Given the description of an element on the screen output the (x, y) to click on. 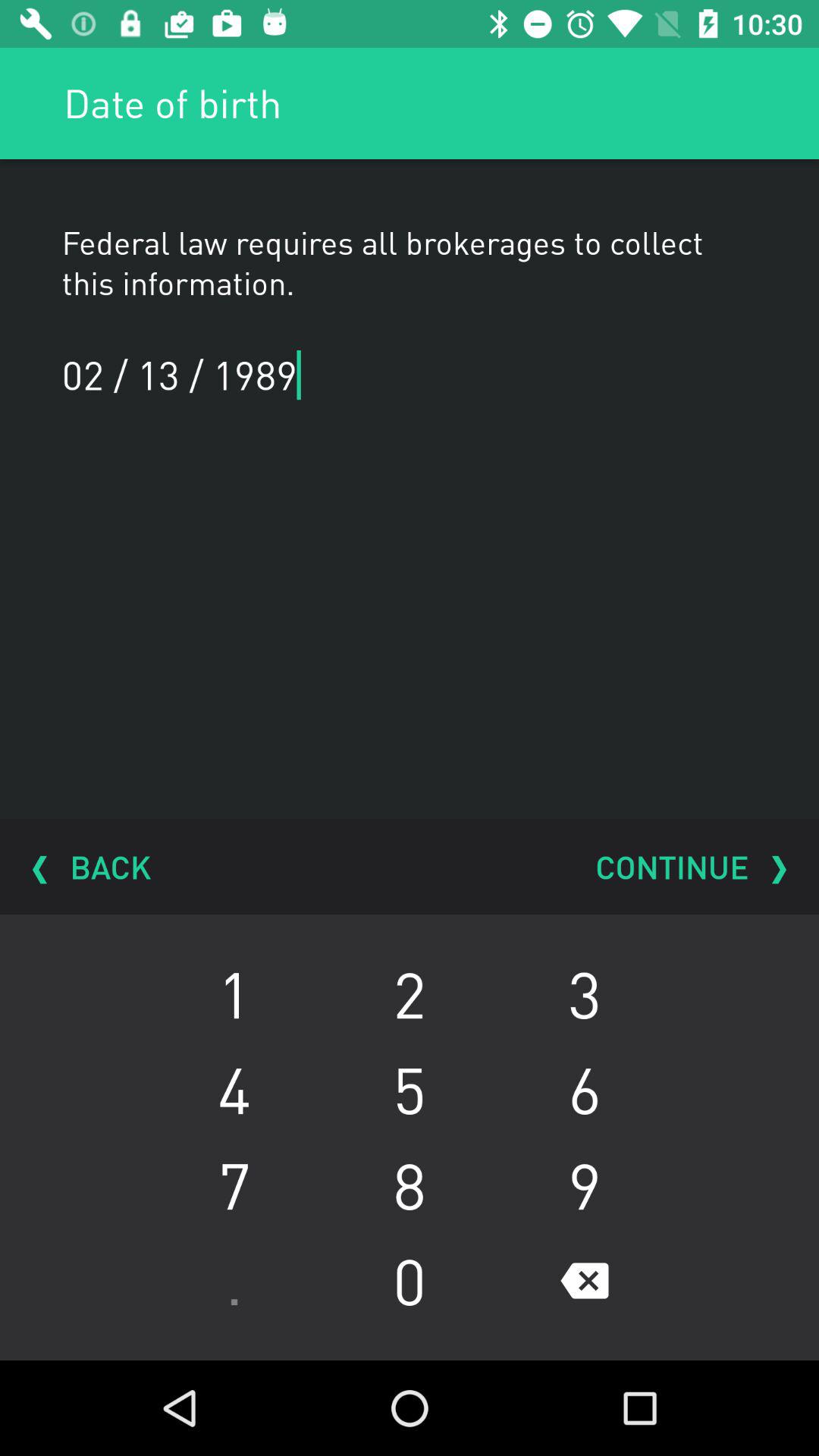
launch item to the right of the 7 (409, 1280)
